Given the description of an element on the screen output the (x, y) to click on. 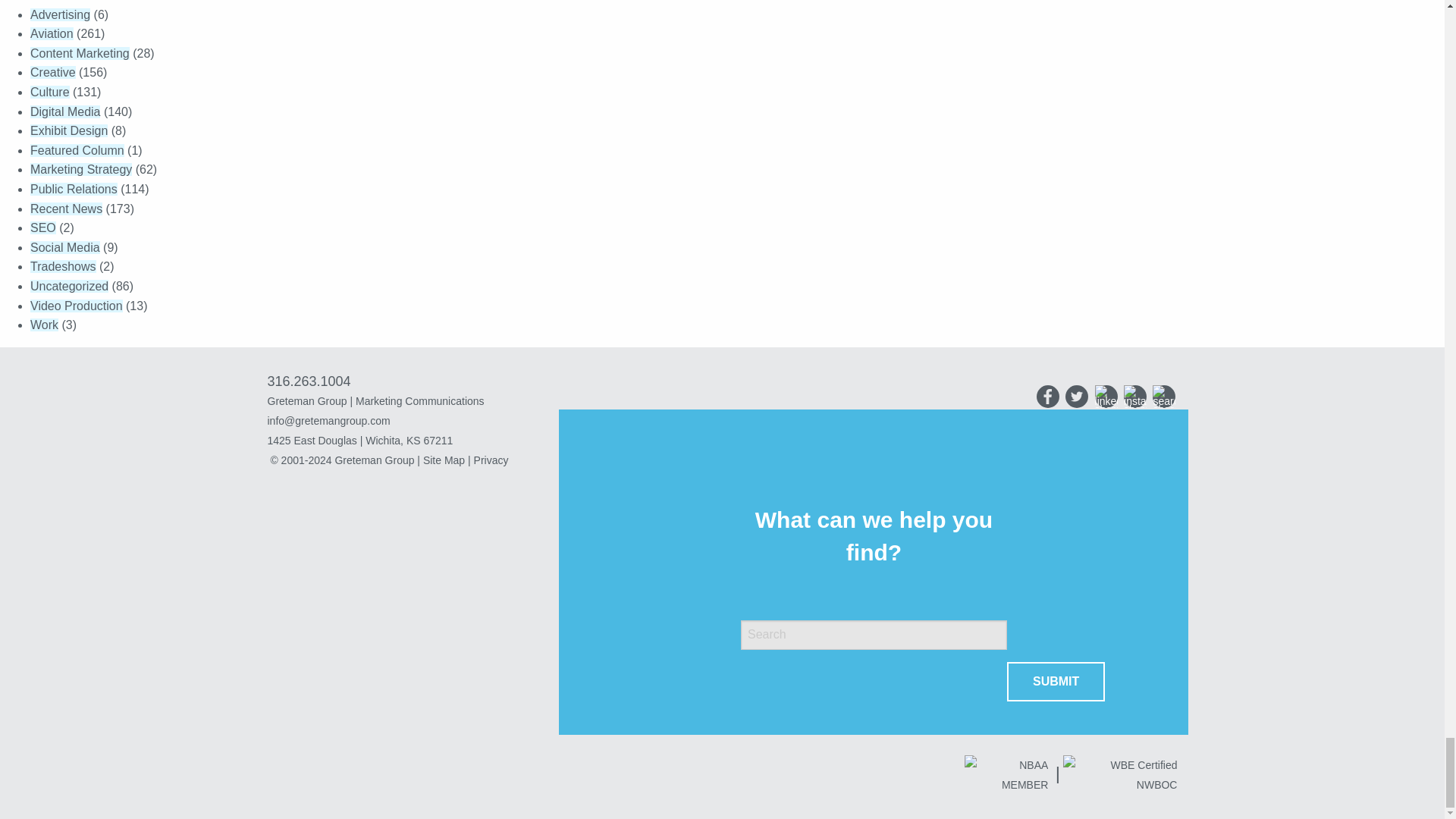
Click to Call Greteman Group (308, 381)
Link to Greteman Group on Twitter (1076, 395)
Link to NBAA.org (1007, 775)
Link to WBE Certified (1119, 775)
Link to Greteman Group on Instagram (1135, 395)
Link to Greteman Group on Facebook (1048, 395)
Link to Greteman Group on Linkedin (1106, 395)
Click to open Search for Greteman Group website (1163, 395)
Submit (1056, 681)
Click to email Greteman Group (418, 420)
Link to Site Map (443, 460)
Link to Privacy Policy of Website (491, 460)
Click to visit Greteman Group on Google Maps (418, 440)
